Given the description of an element on the screen output the (x, y) to click on. 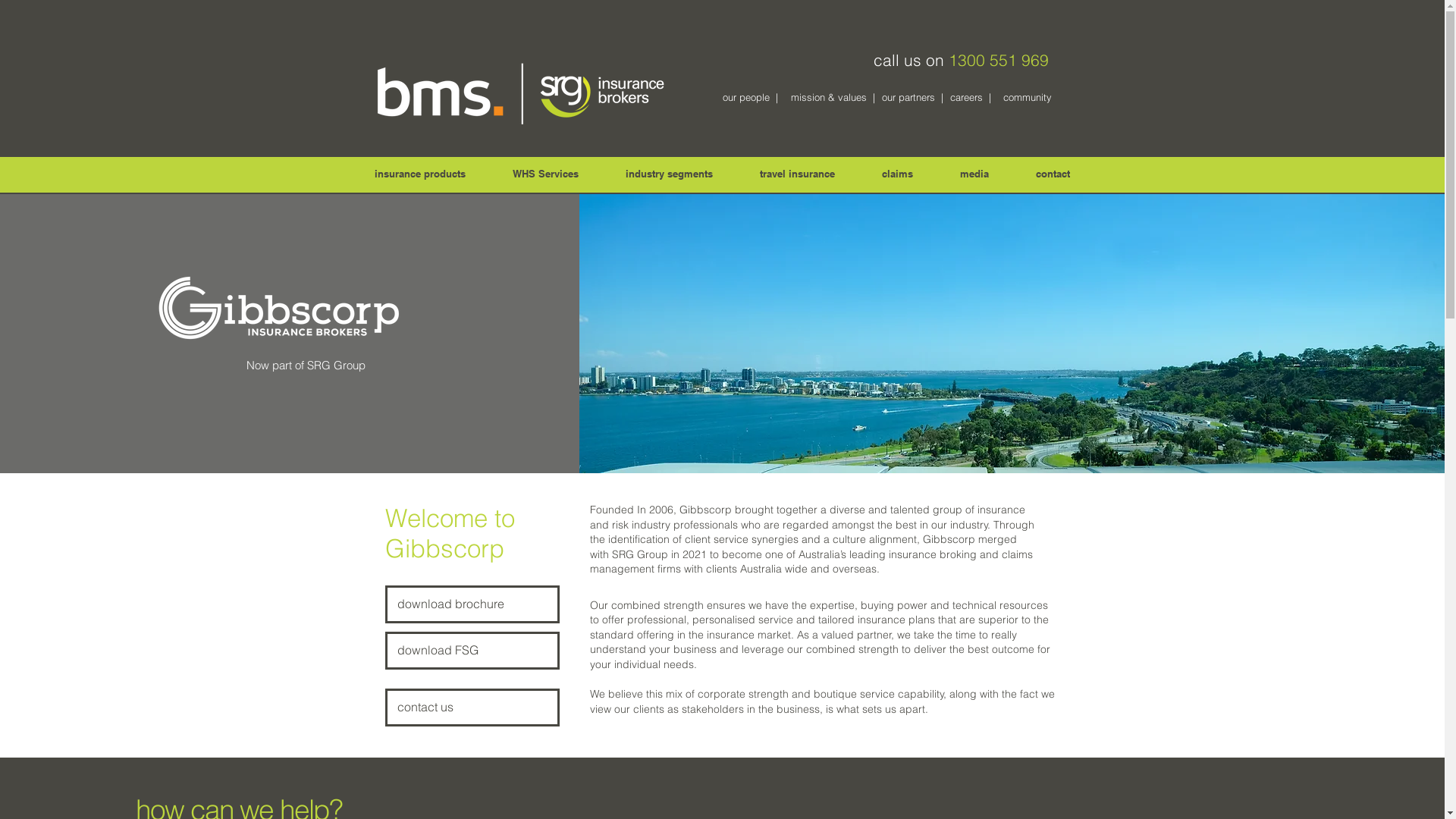
travel insurance Element type: text (796, 173)
our partners  | Element type: text (911, 96)
contact us Element type: text (472, 707)
download brochure Element type: text (472, 604)
insurance products Element type: text (419, 173)
WHS Services Element type: text (544, 173)
download FSG Element type: text (472, 650)
our people  | Element type: text (749, 97)
community Element type: text (1026, 97)
claims Element type: text (897, 173)
contact Element type: text (1051, 173)
mission & values  | Element type: text (832, 96)
careers  |  Element type: text (971, 97)
1300 551 969 Element type: text (997, 59)
